Given the description of an element on the screen output the (x, y) to click on. 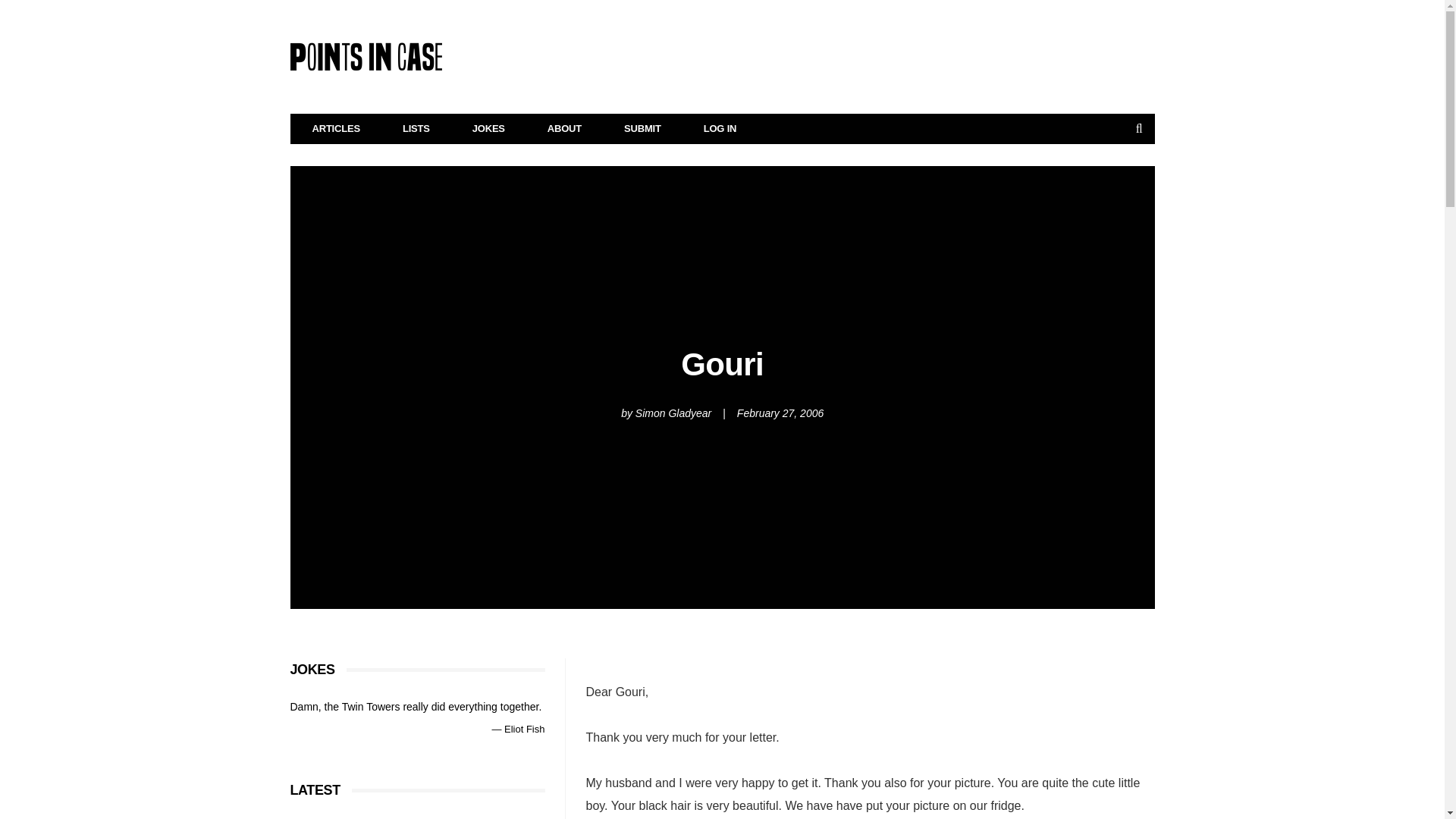
JOKES (488, 128)
Simon Gladyear (672, 413)
Posts by Simon Gladyear (672, 413)
SUBMIT (642, 128)
LISTS (416, 128)
ARTICLES (336, 128)
LOG IN (720, 128)
ABOUT (563, 128)
Eliot Fish (523, 728)
